Given the description of an element on the screen output the (x, y) to click on. 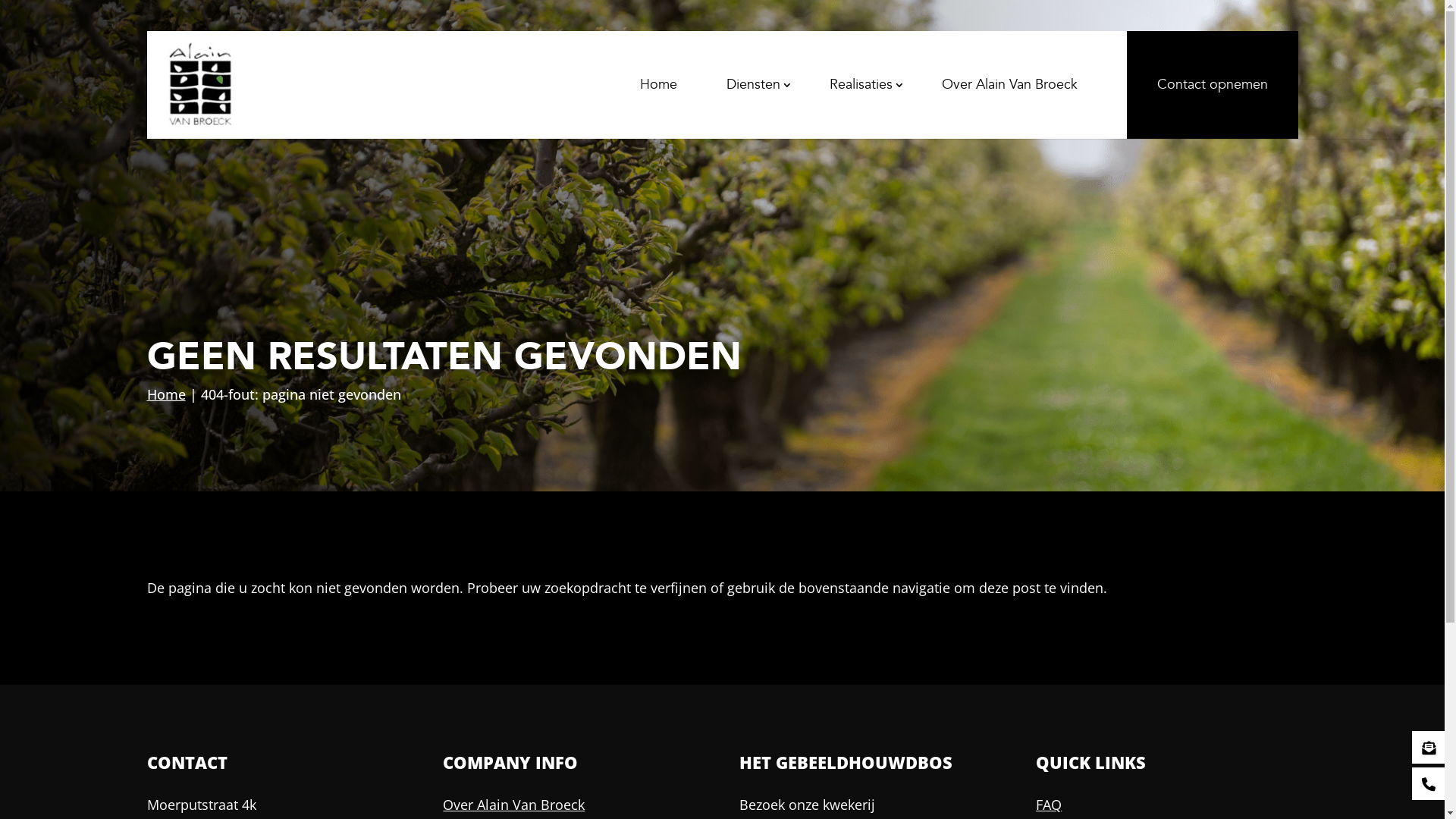
Realisaties Element type: text (860, 84)
Contact opnemen Element type: text (1212, 84)
Home Element type: text (658, 84)
Home Element type: text (166, 394)
Over Alain Van Broeck Element type: text (1009, 84)
Over Alain Van Broeck Element type: text (513, 804)
FAQ Element type: text (1048, 804)
Diensten Element type: text (753, 84)
